Given the description of an element on the screen output the (x, y) to click on. 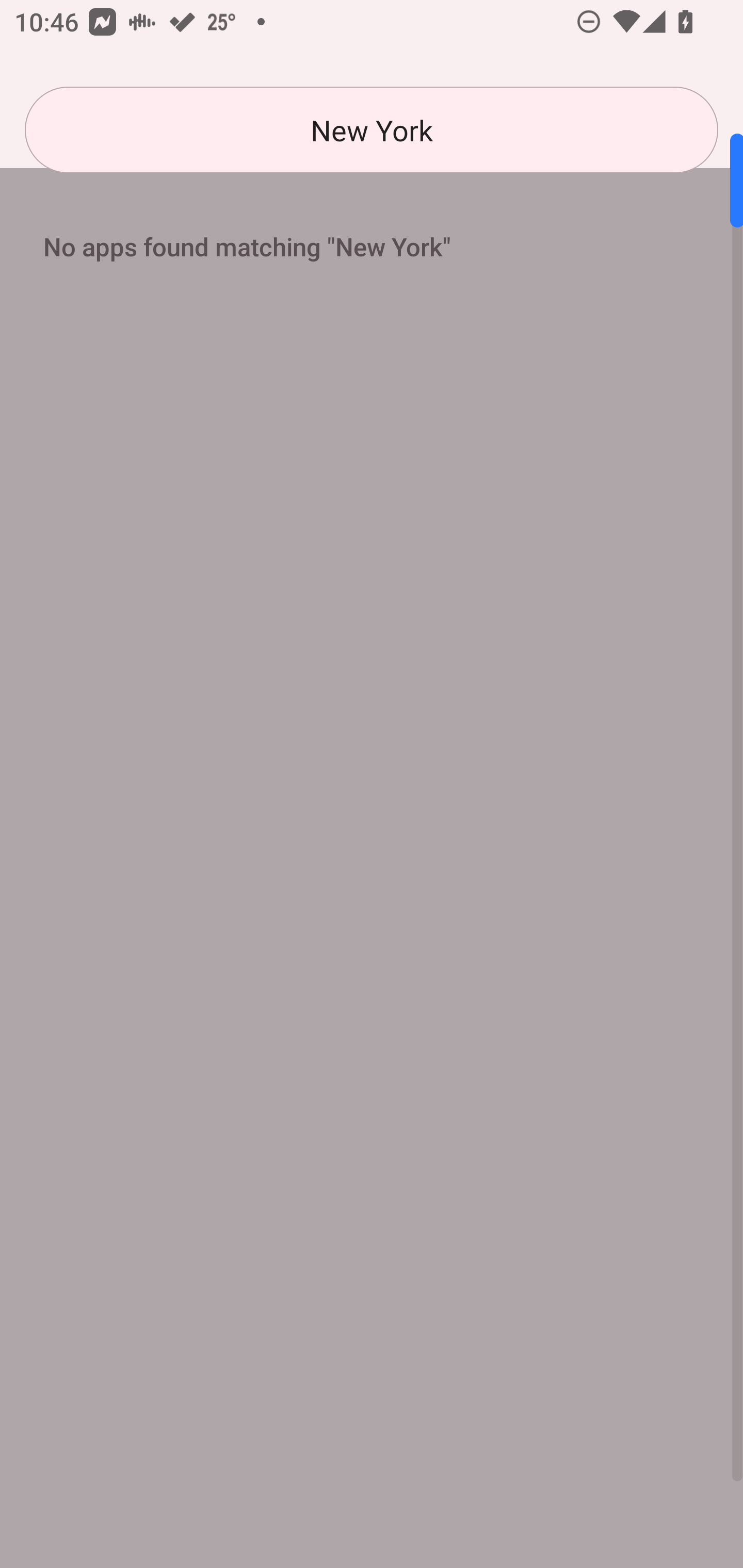
New York (371, 130)
